Given the description of an element on the screen output the (x, y) to click on. 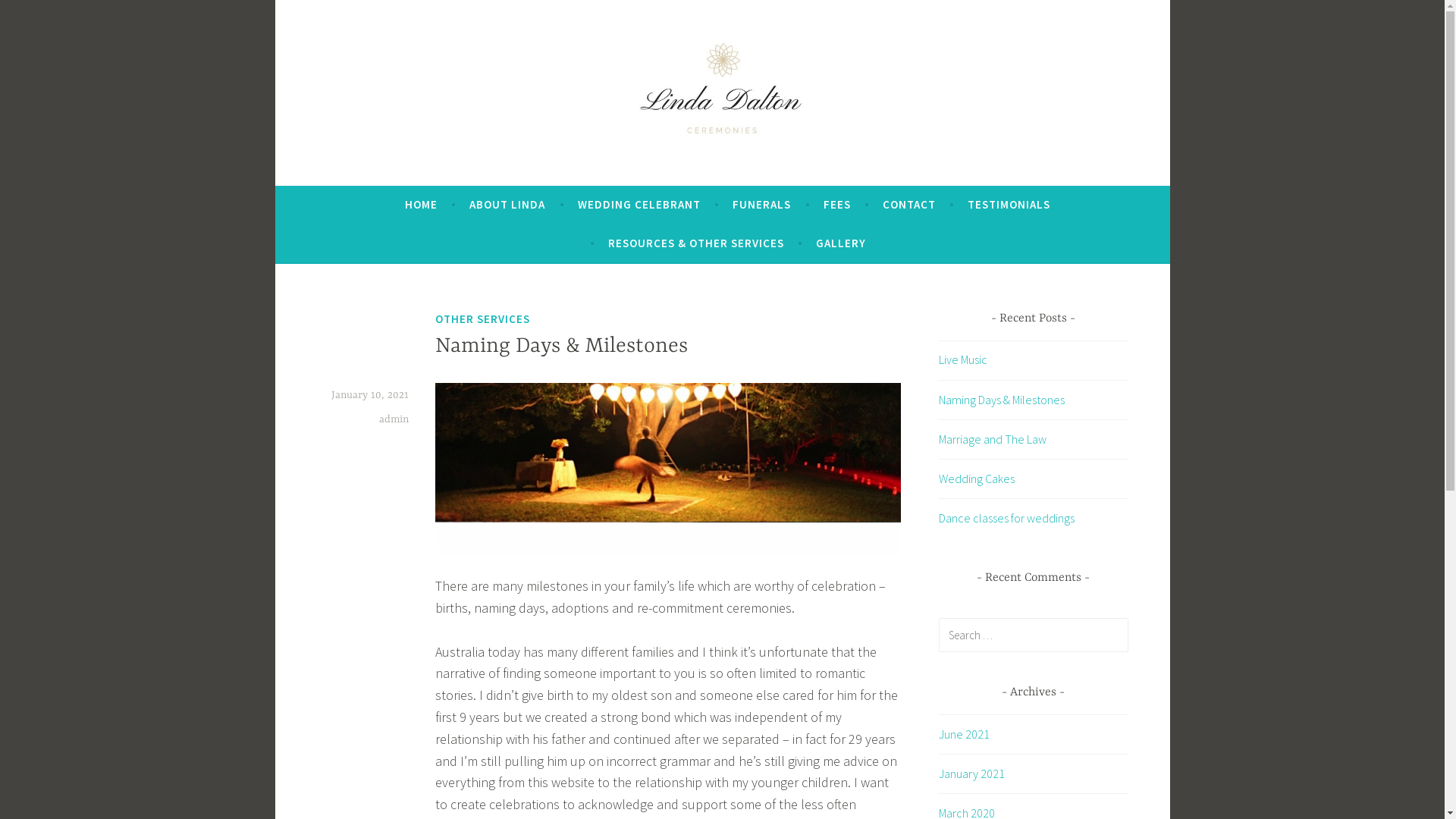
CONTACT Element type: text (908, 204)
WEDDING CELEBRANT Element type: text (638, 204)
FUNERALS Element type: text (761, 204)
January 2021 Element type: text (971, 773)
Search Element type: text (33, 15)
Skip to content Element type: text (274, 0)
OTHER SERVICES Element type: text (482, 318)
GALLERY Element type: text (840, 243)
Linda Dalton Ceremonies Element type: text (491, 179)
HOME Element type: text (420, 204)
TESTIMONIALS Element type: text (1008, 204)
ABOUT LINDA Element type: text (507, 204)
Live Music Element type: text (962, 359)
Naming Days & Milestones Element type: text (1001, 399)
January 10, 2021 Element type: text (368, 395)
Wedding Cakes Element type: text (976, 478)
Dance classes for weddings Element type: text (1006, 517)
admin Element type: text (393, 419)
RESOURCES & OTHER SERVICES Element type: text (696, 243)
FEES Element type: text (836, 204)
June 2021 Element type: text (963, 733)
Marriage and The Law Element type: text (992, 438)
